Given the description of an element on the screen output the (x, y) to click on. 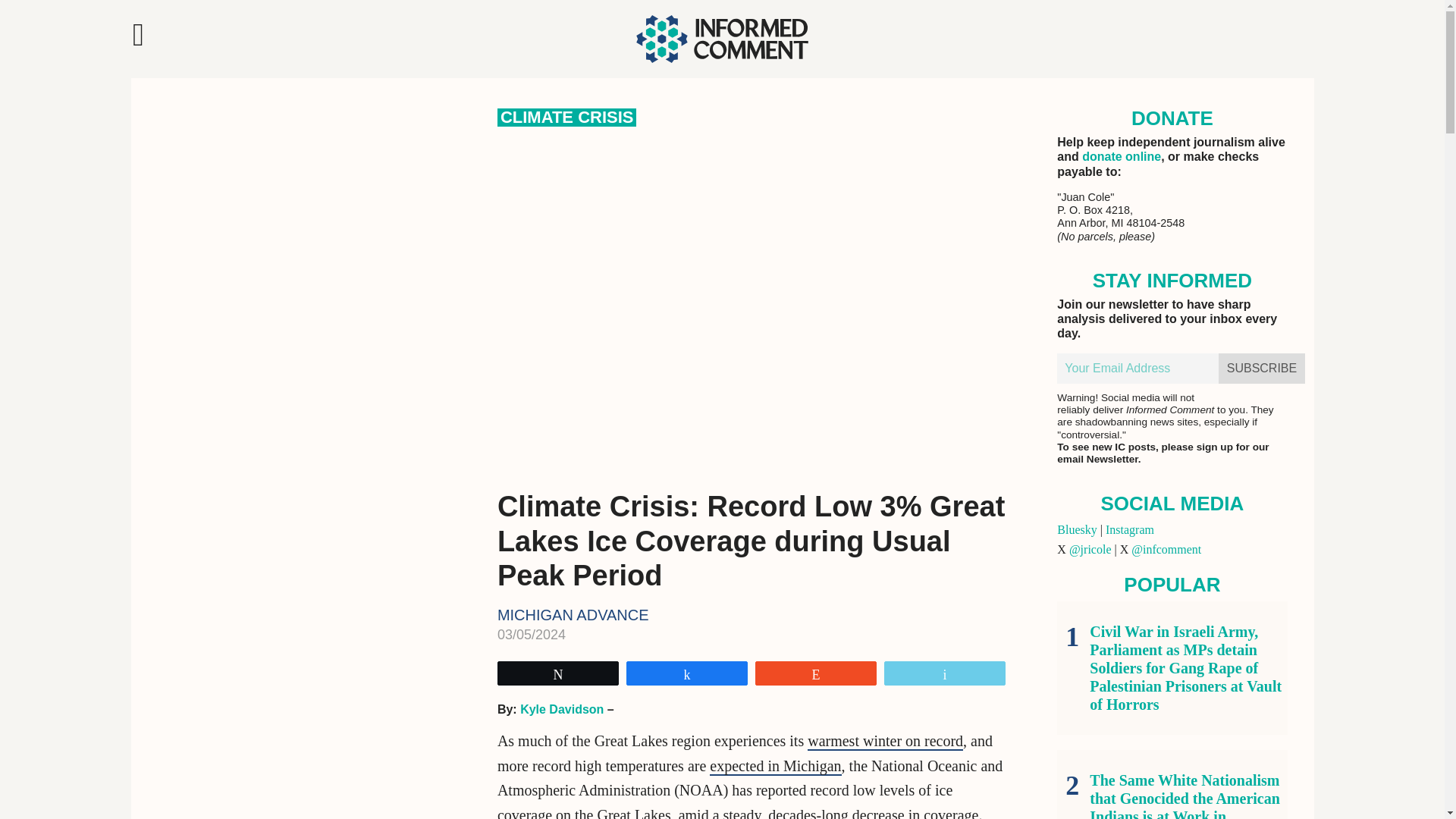
expected in Michigan (775, 766)
Posts by Kyle Davidson (561, 708)
Kyle Davidson (561, 708)
MICHIGAN ADVANCE (573, 614)
CLIMATE CRISIS (567, 117)
subscribe (1262, 368)
warmest winter on record (885, 741)
